Given the description of an element on the screen output the (x, y) to click on. 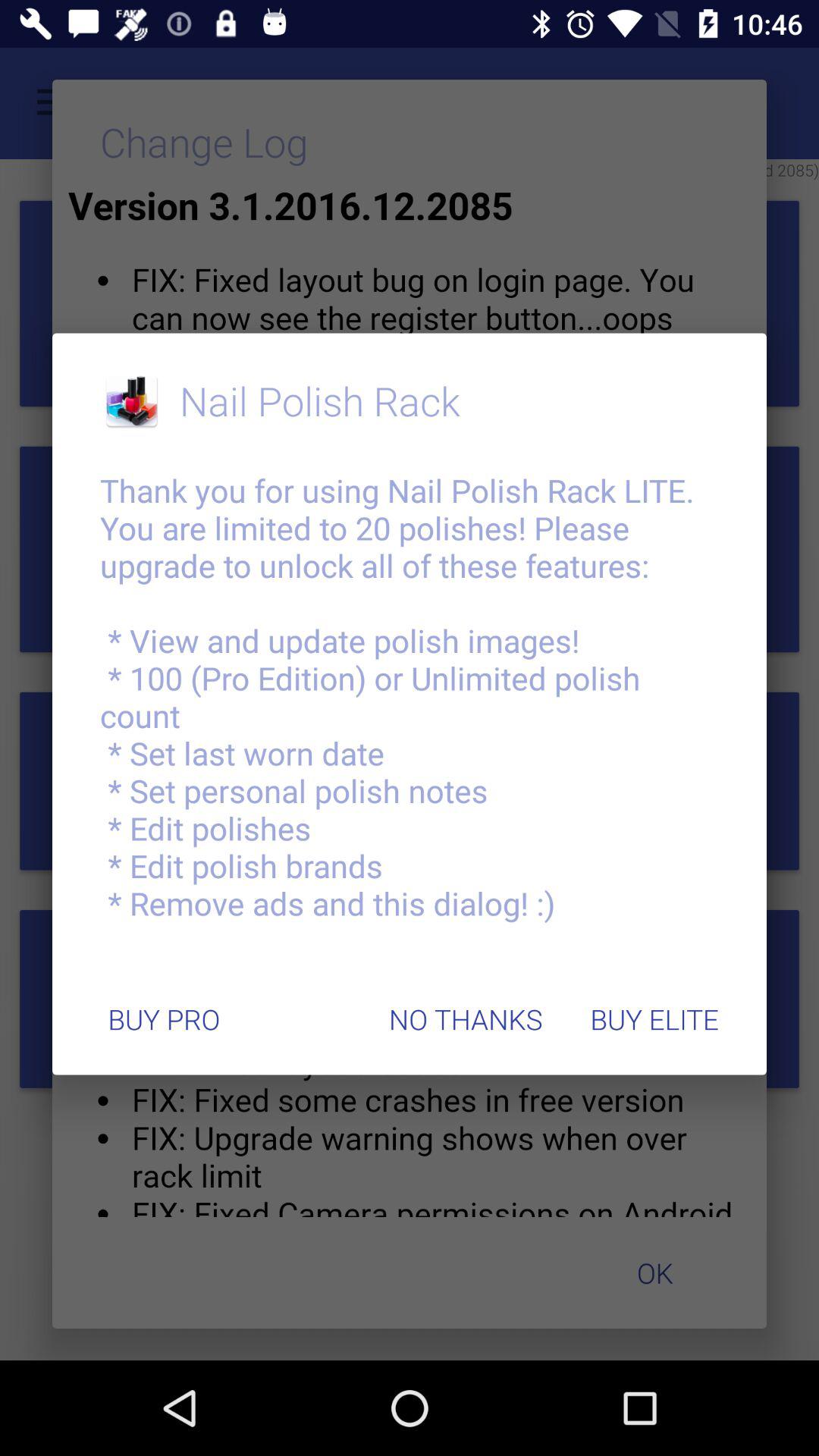
turn on the buy elite (654, 1018)
